Given the description of an element on the screen output the (x, y) to click on. 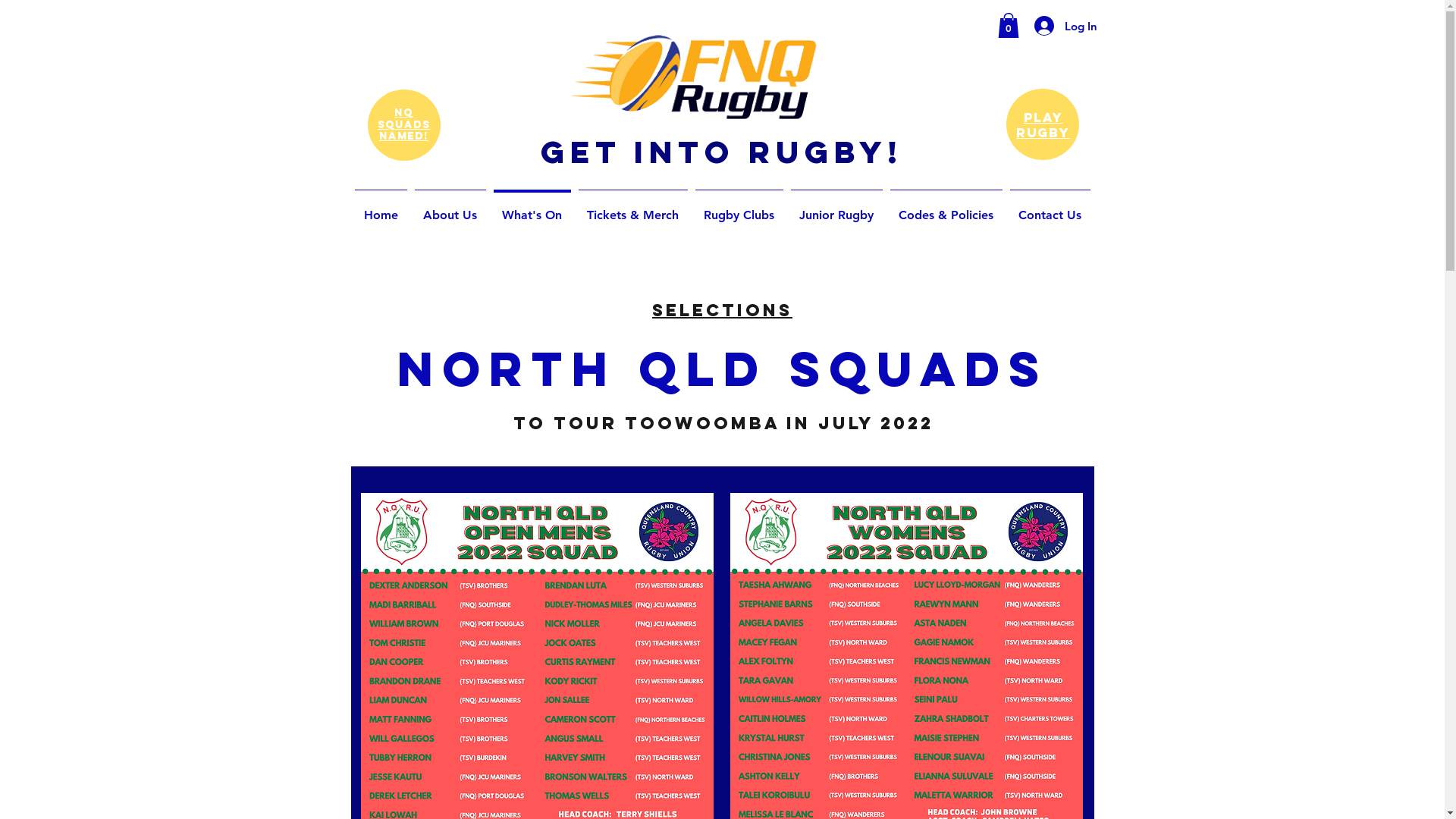
Codes & Policies Element type: text (945, 208)
PLAY
RUGBY Element type: text (1043, 125)
What's On Element type: text (531, 208)
Tickets & Merch Element type: text (632, 208)
About Us Element type: text (450, 208)
0 Element type: text (1008, 24)
Rugby Clubs Element type: text (739, 208)
Contact Us Element type: text (1049, 208)
Junior Rugby Element type: text (836, 208)
nq Squadsnamed! Element type: text (403, 124)
get into rugby! Element type: text (721, 151)
Log In Element type: text (1054, 25)
Home Element type: text (380, 208)
